Given the description of an element on the screen output the (x, y) to click on. 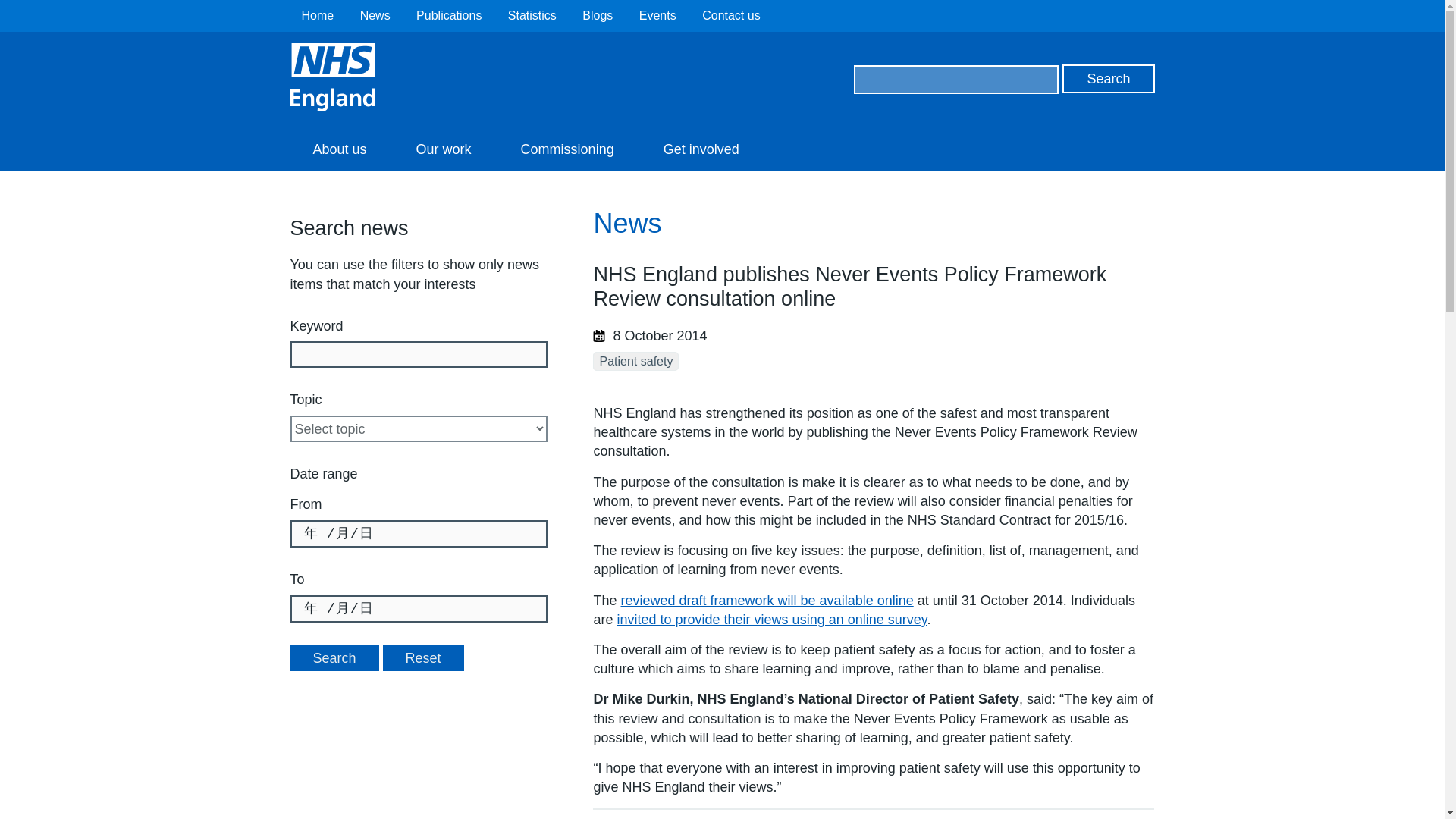
News (374, 15)
Search (1108, 78)
Patient safety (635, 361)
Our work (444, 149)
About us (338, 149)
Reset (423, 657)
Search (333, 657)
Blogs (597, 15)
Events (658, 15)
Events (658, 15)
